Given the description of an element on the screen output the (x, y) to click on. 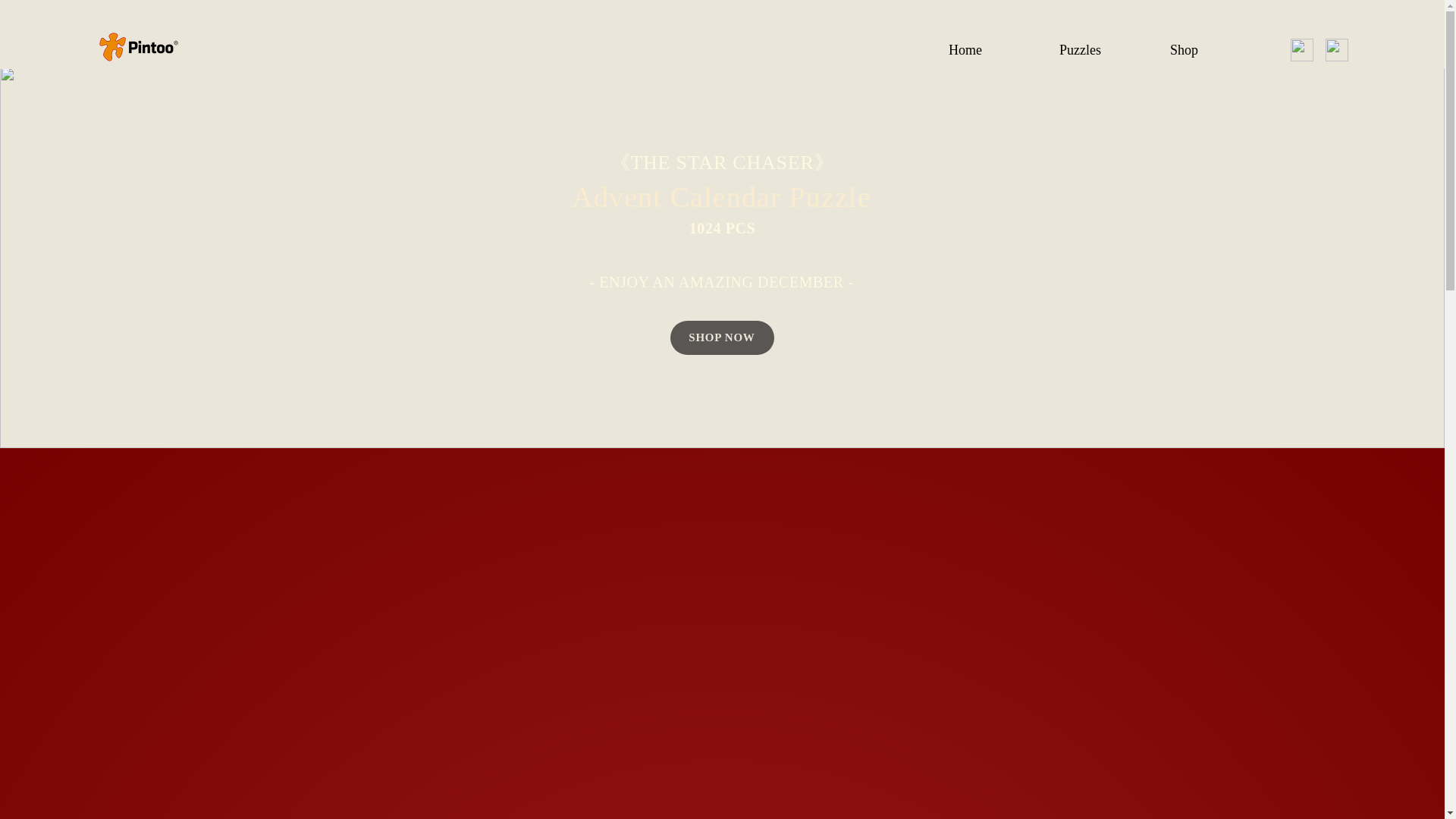
Shop (1216, 49)
Puzzles (1106, 49)
SHOP NOW (721, 337)
Home (995, 49)
